Given the description of an element on the screen output the (x, y) to click on. 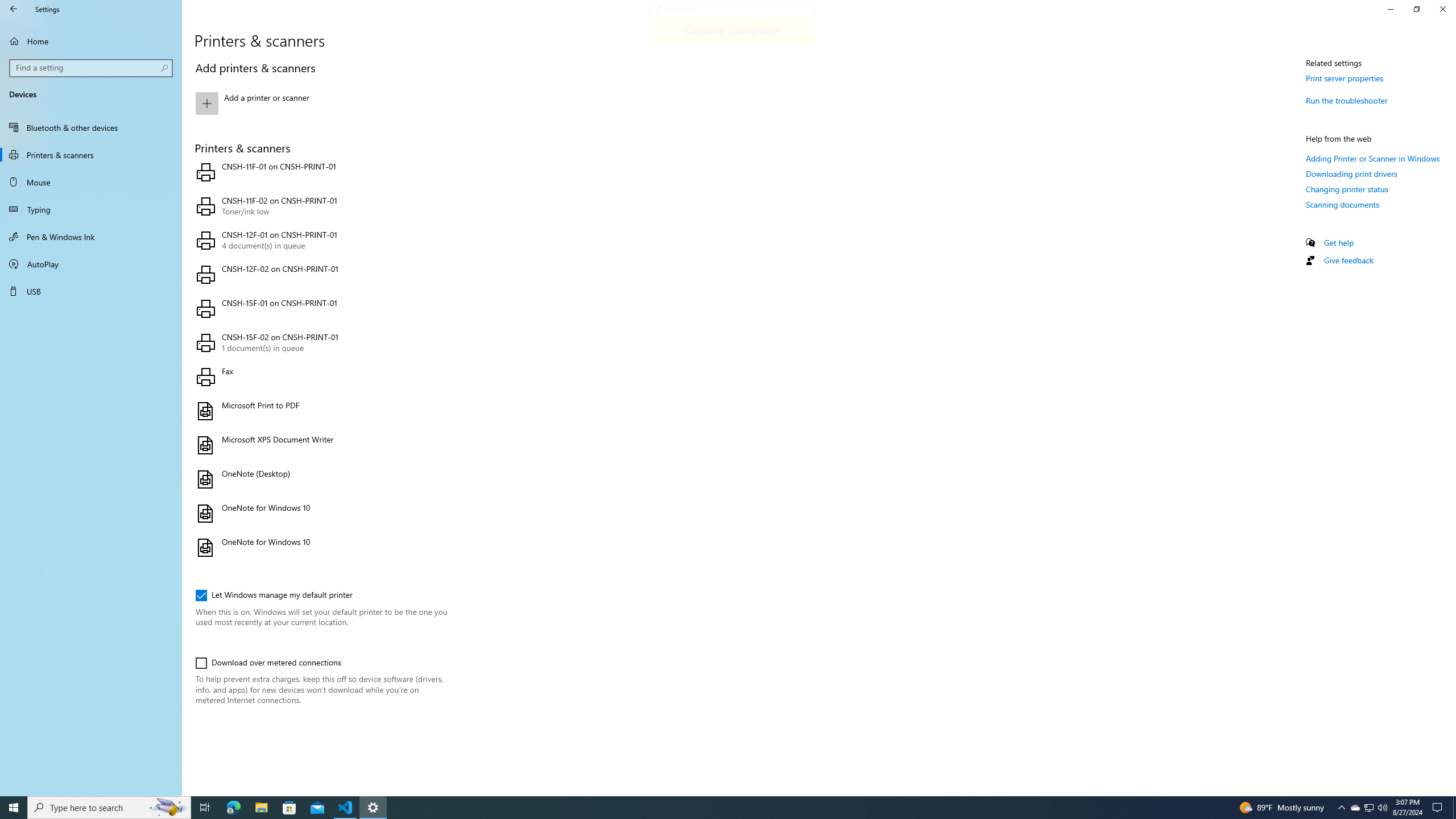
CNSH-15F-01 on CNSH-PRINT-01 (319, 308)
AutoPlay (91, 263)
